Given the description of an element on the screen output the (x, y) to click on. 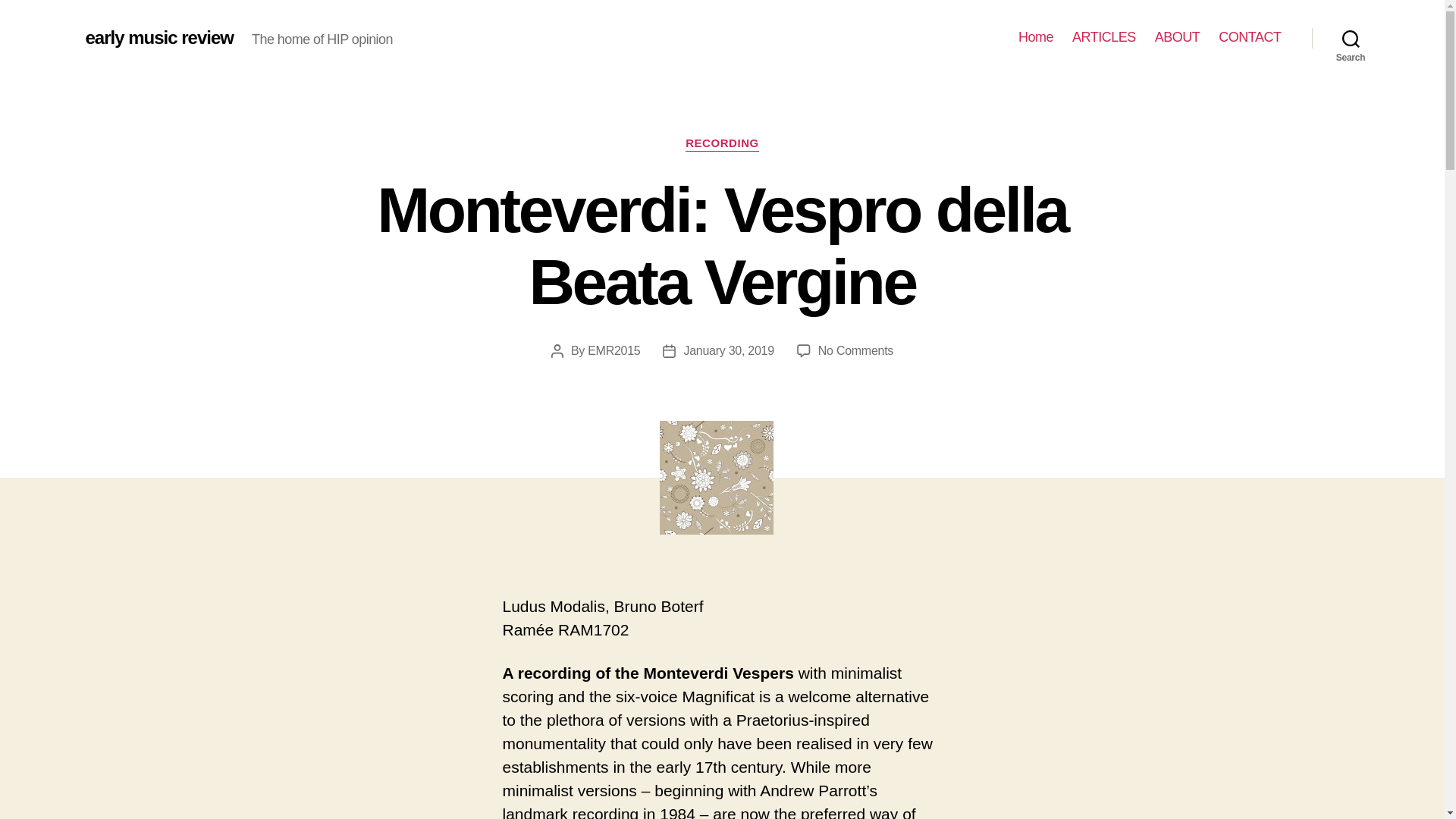
ARTICLES (1103, 37)
Home (1034, 37)
CONTACT (1249, 37)
RECORDING (721, 143)
January 30, 2019 (727, 350)
early music review (158, 37)
ABOUT (1176, 37)
EMR2015 (614, 350)
Search (855, 350)
